Given the description of an element on the screen output the (x, y) to click on. 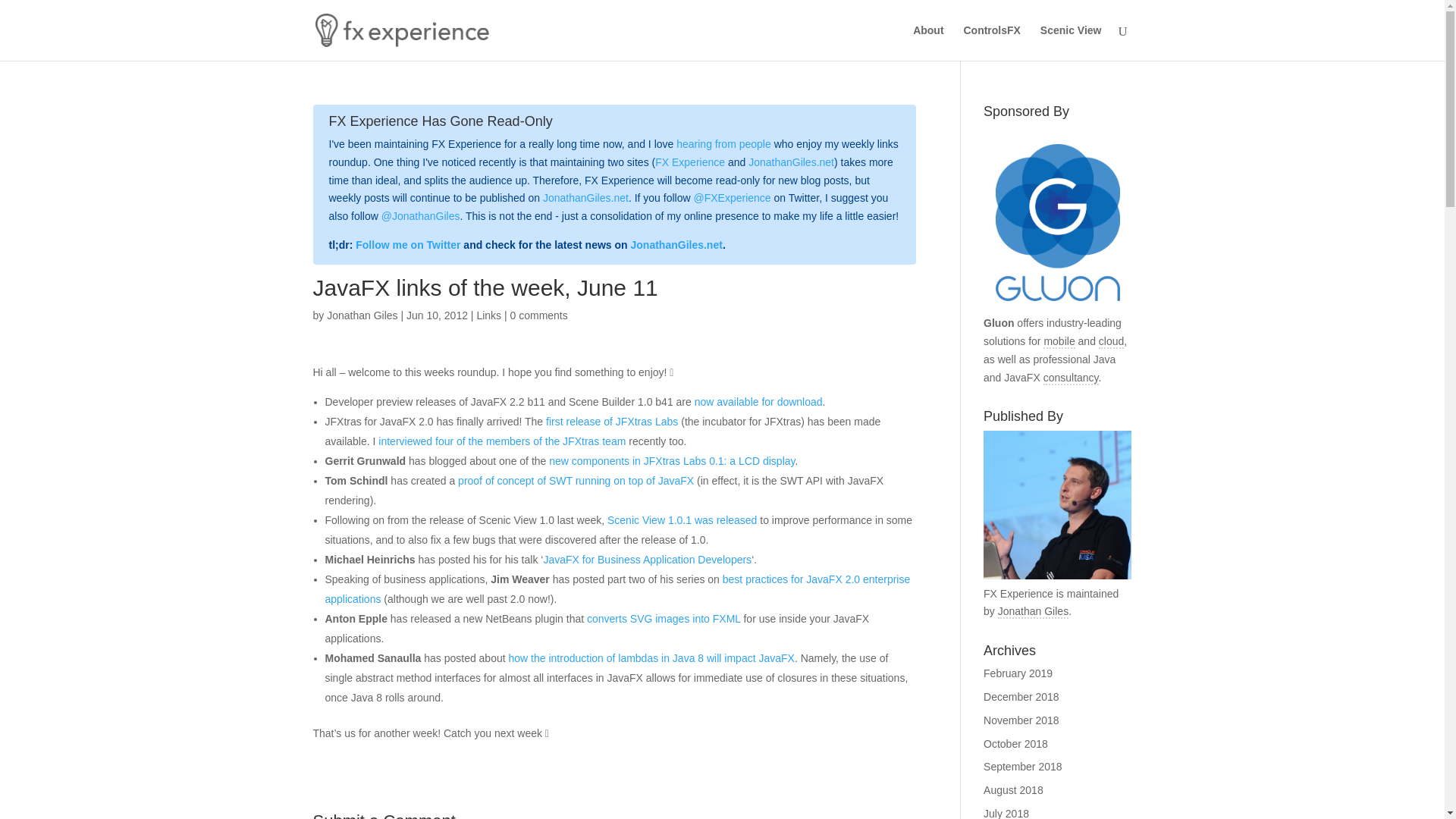
mobile (1058, 341)
JonathanGiles.net (585, 197)
September 2018 (1023, 766)
Links (488, 315)
Scenic View 1.0.1 was released (682, 520)
converts SVG images into FXML (663, 618)
JavaFX for Business Application Developers (647, 559)
Jonathan Giles (361, 315)
Scenic View (1071, 42)
August 2018 (1013, 789)
